Given the description of an element on the screen output the (x, y) to click on. 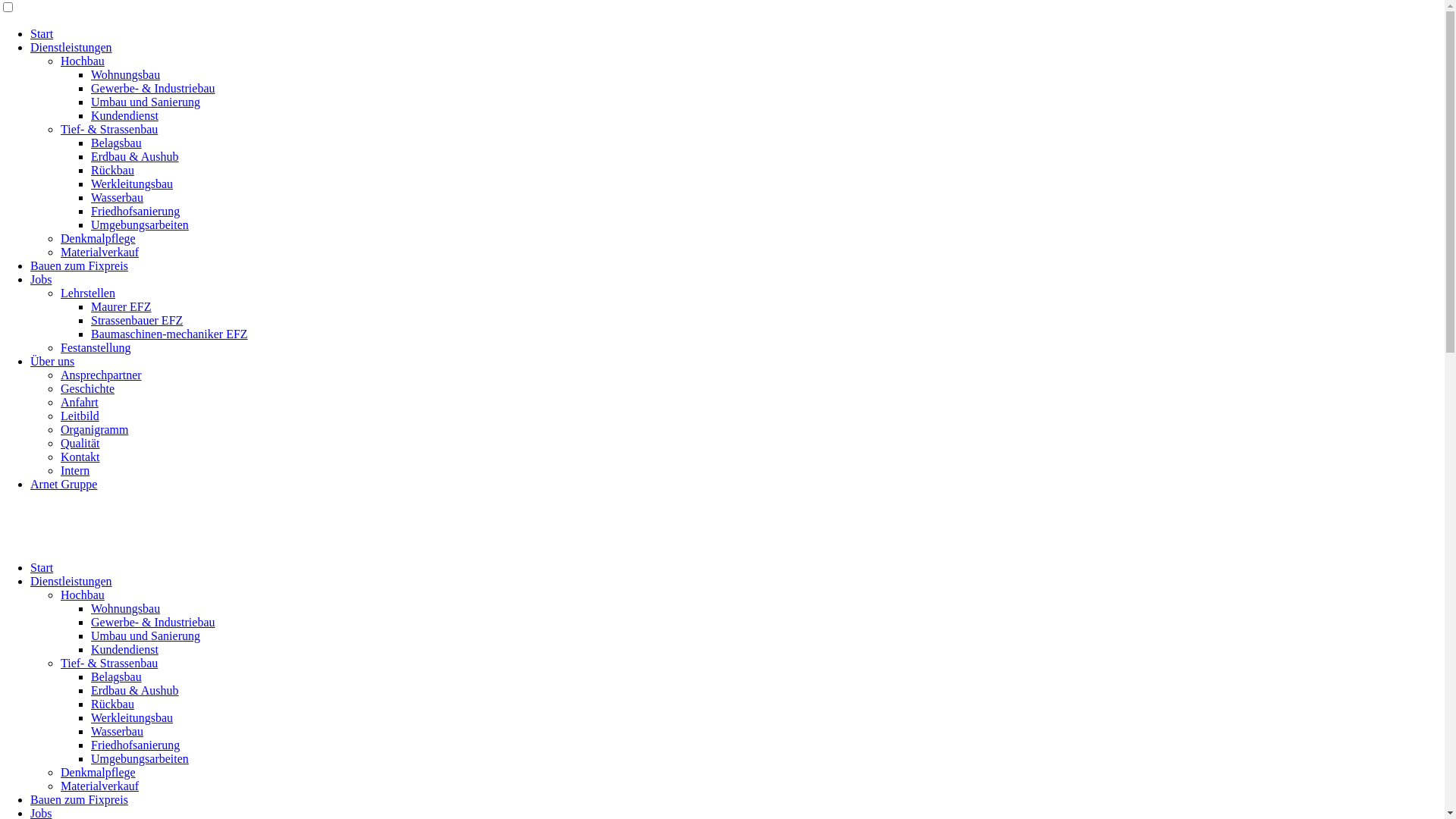
Umbau und Sanierung Element type: text (145, 635)
Werkleitungsbau Element type: text (131, 717)
Arnet Gruppe Element type: text (63, 483)
Bauen zum Fixpreis Element type: text (79, 265)
Maurer EFZ Element type: text (121, 306)
Tief- & Strassenbau Element type: text (108, 128)
Start Element type: text (41, 33)
Jobs Element type: text (40, 279)
Wasserbau Element type: text (117, 197)
Leitbild Element type: text (79, 415)
Umbau und Sanierung Element type: text (145, 101)
Start Element type: text (41, 567)
Materialverkauf Element type: text (99, 251)
Denkmalpflege Element type: text (97, 238)
Dienstleistungen Element type: text (71, 46)
Erdbau & Aushub Element type: text (134, 690)
Friedhofsanierung Element type: text (135, 210)
Denkmalpflege Element type: text (97, 771)
Anfahrt Element type: text (79, 401)
Materialverkauf Element type: text (99, 785)
Kundendienst Element type: text (124, 115)
Umgebungsarbeiten Element type: text (139, 758)
Festanstellung Element type: text (95, 347)
Organigramm Element type: text (94, 429)
Friedhofsanierung Element type: text (135, 744)
Geschichte Element type: text (87, 388)
Dienstleistungen Element type: text (71, 580)
Strassenbauer EFZ Element type: text (136, 319)
Baumaschinen-mechaniker EFZ Element type: text (169, 333)
Kundendienst Element type: text (124, 649)
Gewerbe- & Industriebau Element type: text (153, 87)
Hochbau Element type: text (82, 594)
Erdbau & Aushub Element type: text (134, 156)
Wohnungsbau Element type: text (125, 608)
Kontakt Element type: text (80, 456)
Tief- & Strassenbau Element type: text (108, 662)
Gewerbe- & Industriebau Element type: text (153, 621)
Wasserbau Element type: text (117, 730)
Lehrstellen Element type: text (87, 292)
Bauen zum Fixpreis Element type: text (79, 799)
Belagsbau Element type: text (116, 142)
Belagsbau Element type: text (116, 676)
Ansprechpartner Element type: text (100, 374)
Wohnungsbau Element type: text (125, 74)
Hochbau Element type: text (82, 60)
Umgebungsarbeiten Element type: text (139, 224)
Intern Element type: text (74, 470)
Werkleitungsbau Element type: text (131, 183)
